Given the description of an element on the screen output the (x, y) to click on. 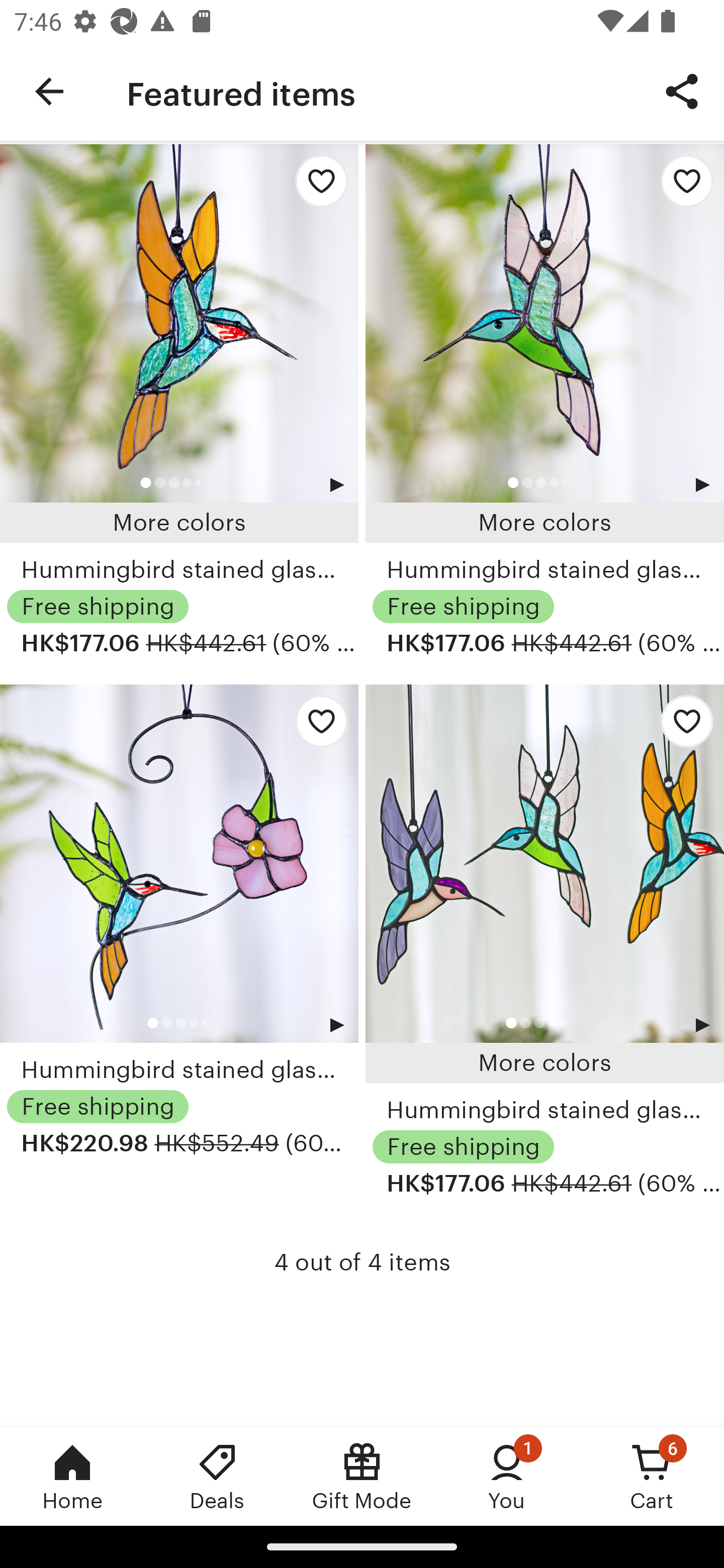
Navigate up (49, 91)
Share Button (681, 90)
Deals (216, 1475)
Gift Mode (361, 1475)
You, 1 new notification You (506, 1475)
Cart, 6 new notifications Cart (651, 1475)
